Given the description of an element on the screen output the (x, y) to click on. 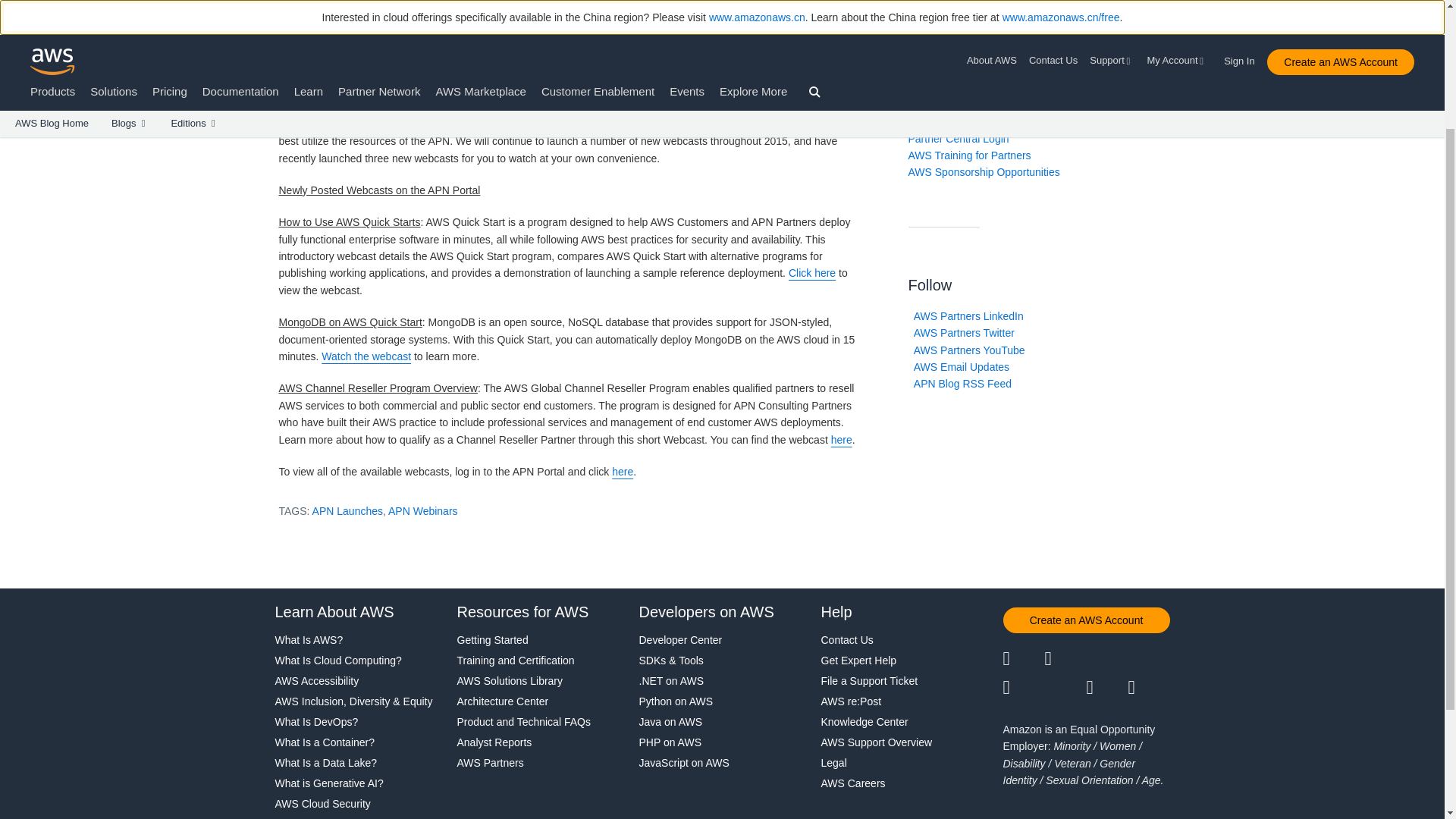
Linkedin (1106, 658)
Posts by Kate Miller (317, 50)
Email (1149, 687)
Podcast (1106, 687)
Twitch (1023, 687)
Twitter (1023, 658)
Facebook (1065, 658)
YouTube (1065, 687)
View all posts in APN Launches (482, 50)
Instagram (1149, 658)
